Given the description of an element on the screen output the (x, y) to click on. 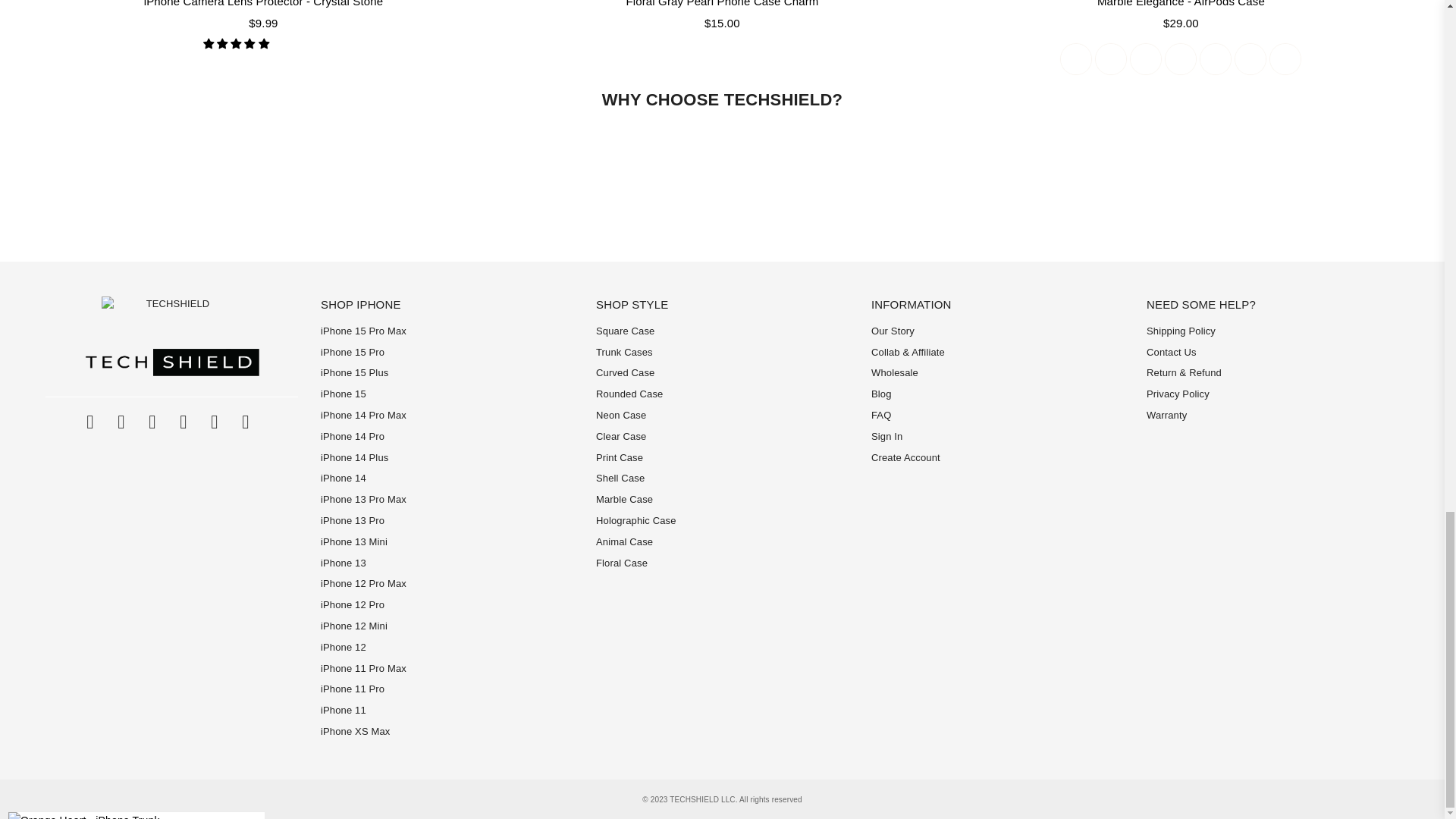
Orange (1214, 59)
TECHSHIELD on Twitter (121, 421)
Green (1180, 59)
Blue (1110, 59)
TECHSHIELD on TikTok (246, 421)
TECHSHIELD on Pinterest (151, 421)
Black (1075, 59)
Red (1284, 59)
TECHSHIELD on YouTube (214, 421)
TECHSHIELD on Instagram (183, 421)
